Given the description of an element on the screen output the (x, y) to click on. 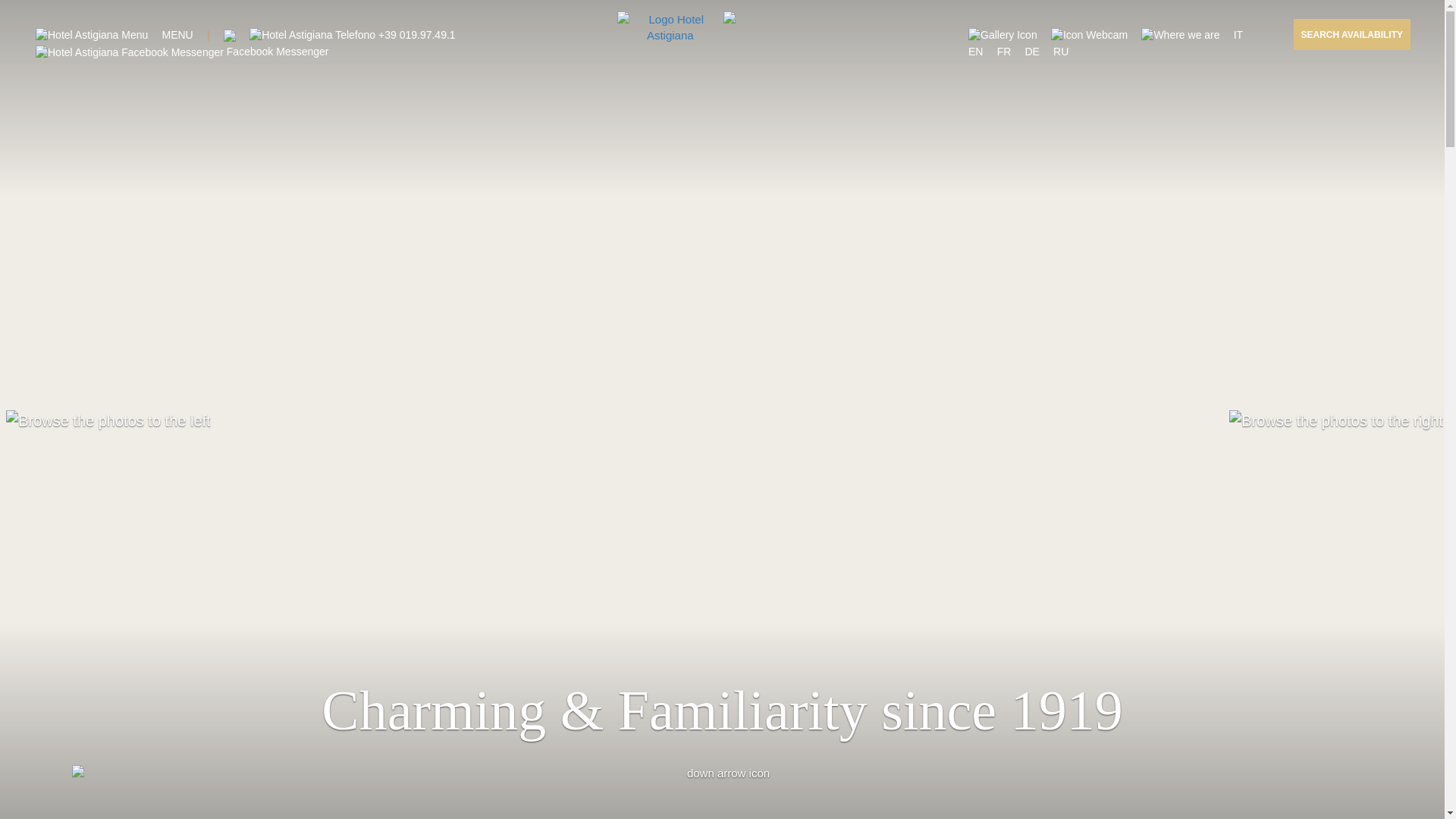
Vai to the gallery (1002, 35)
Watch the live webcam (1088, 34)
RU (1060, 51)
Hotel Astigiana Menu (91, 35)
Hotel Astigiana Menu (176, 34)
DE (1032, 51)
EN (975, 51)
FR (1004, 51)
Contattaci via telefono (351, 34)
MENU (176, 34)
Vai to the gallery (1088, 35)
Hotel Astigiana Telefono (311, 35)
SEARCH AVAILABILITY (1352, 33)
Hotel Astigiana (670, 27)
Contattaci via Facebook (181, 51)
